Given the description of an element on the screen output the (x, y) to click on. 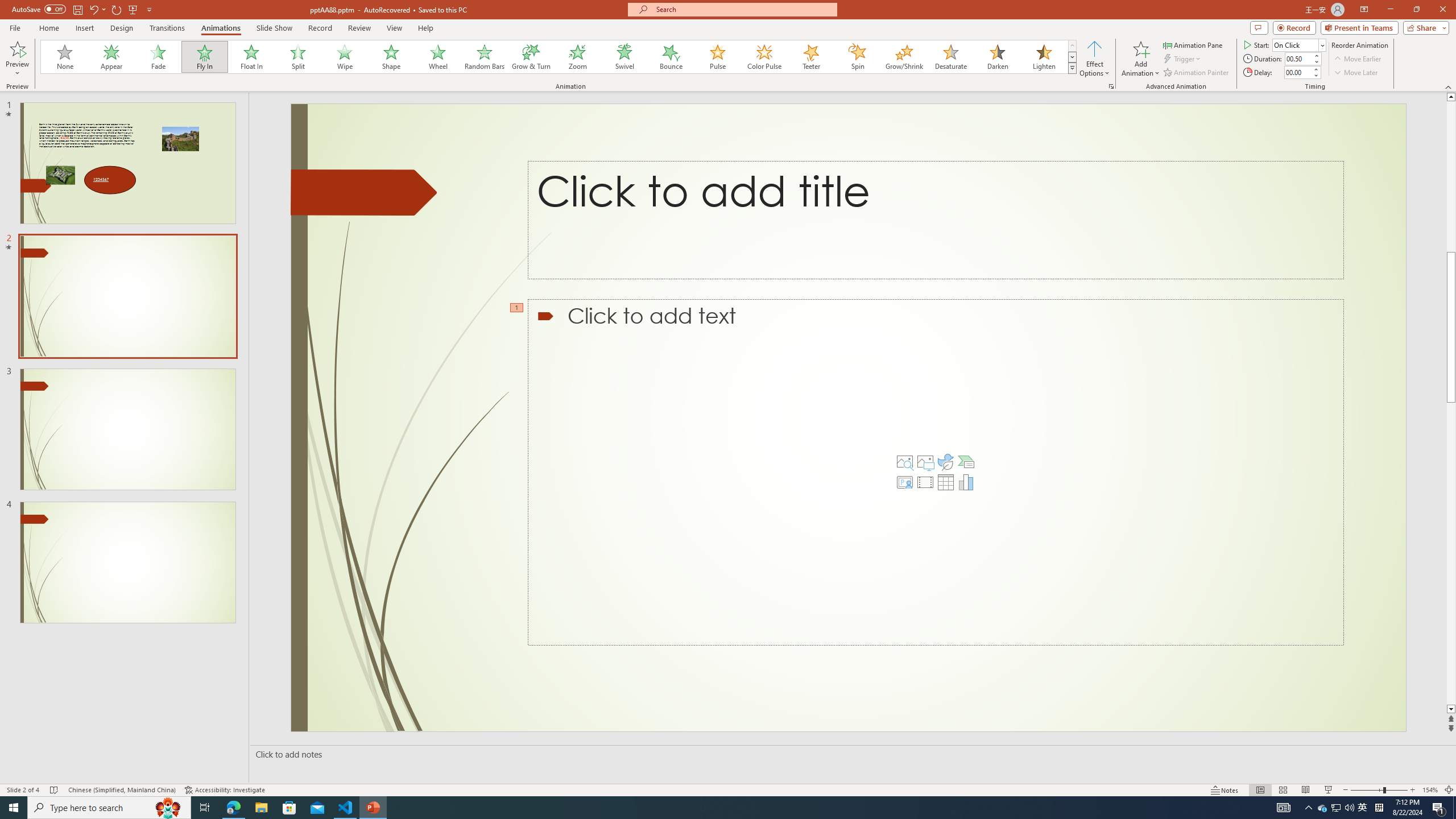
Animation, sequence 1, on Content Placeholder 2 (517, 308)
Add Animation (1141, 58)
